Given the description of an element on the screen output the (x, y) to click on. 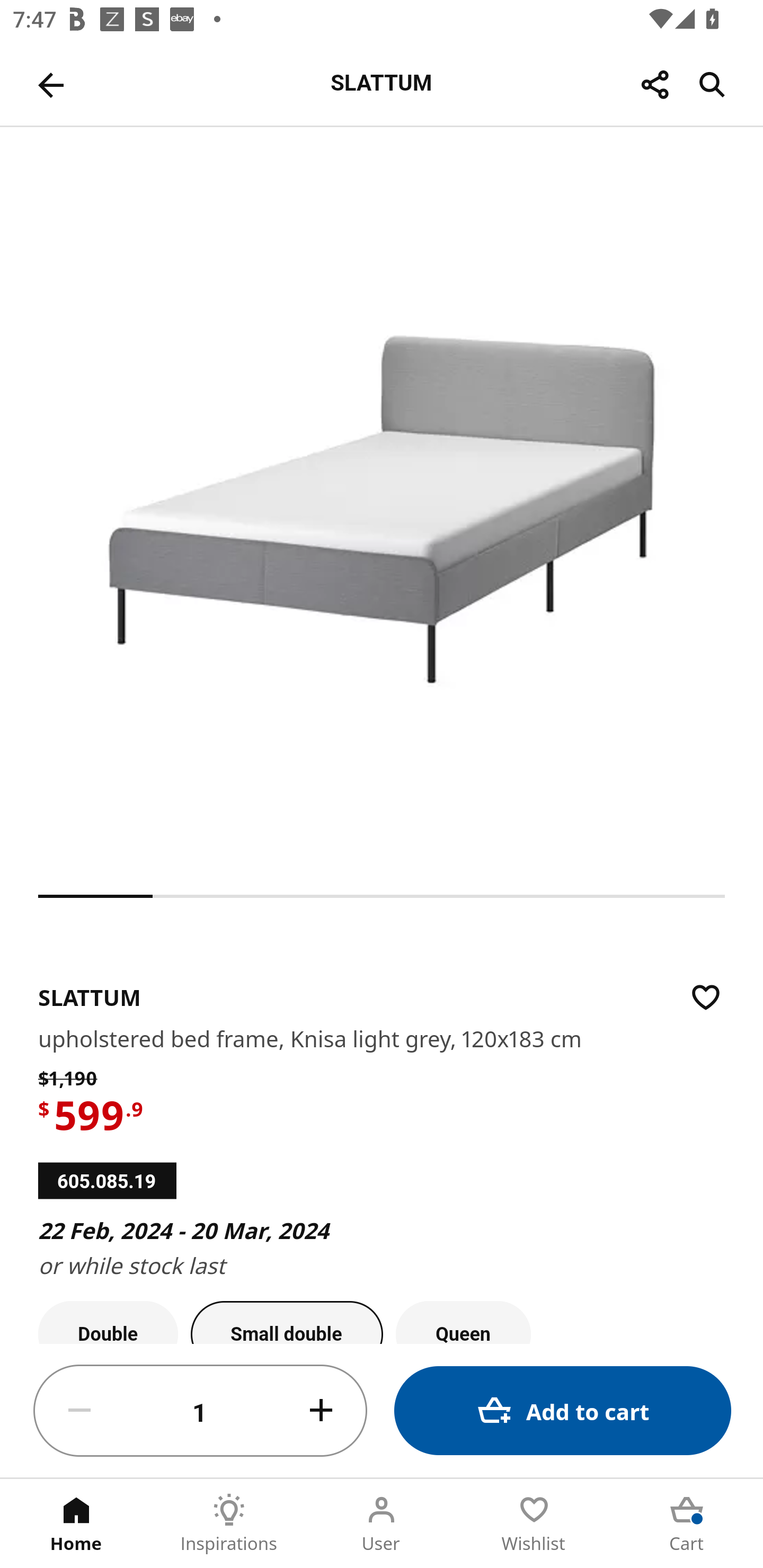
Double (107, 1322)
Small double (286, 1322)
Queen (463, 1322)
Add to cart (562, 1410)
1 (200, 1411)
Home
Tab 1 of 5 (76, 1522)
Inspirations
Tab 2 of 5 (228, 1522)
User
Tab 3 of 5 (381, 1522)
Wishlist
Tab 4 of 5 (533, 1522)
Cart
Tab 5 of 5 (686, 1522)
